Given the description of an element on the screen output the (x, y) to click on. 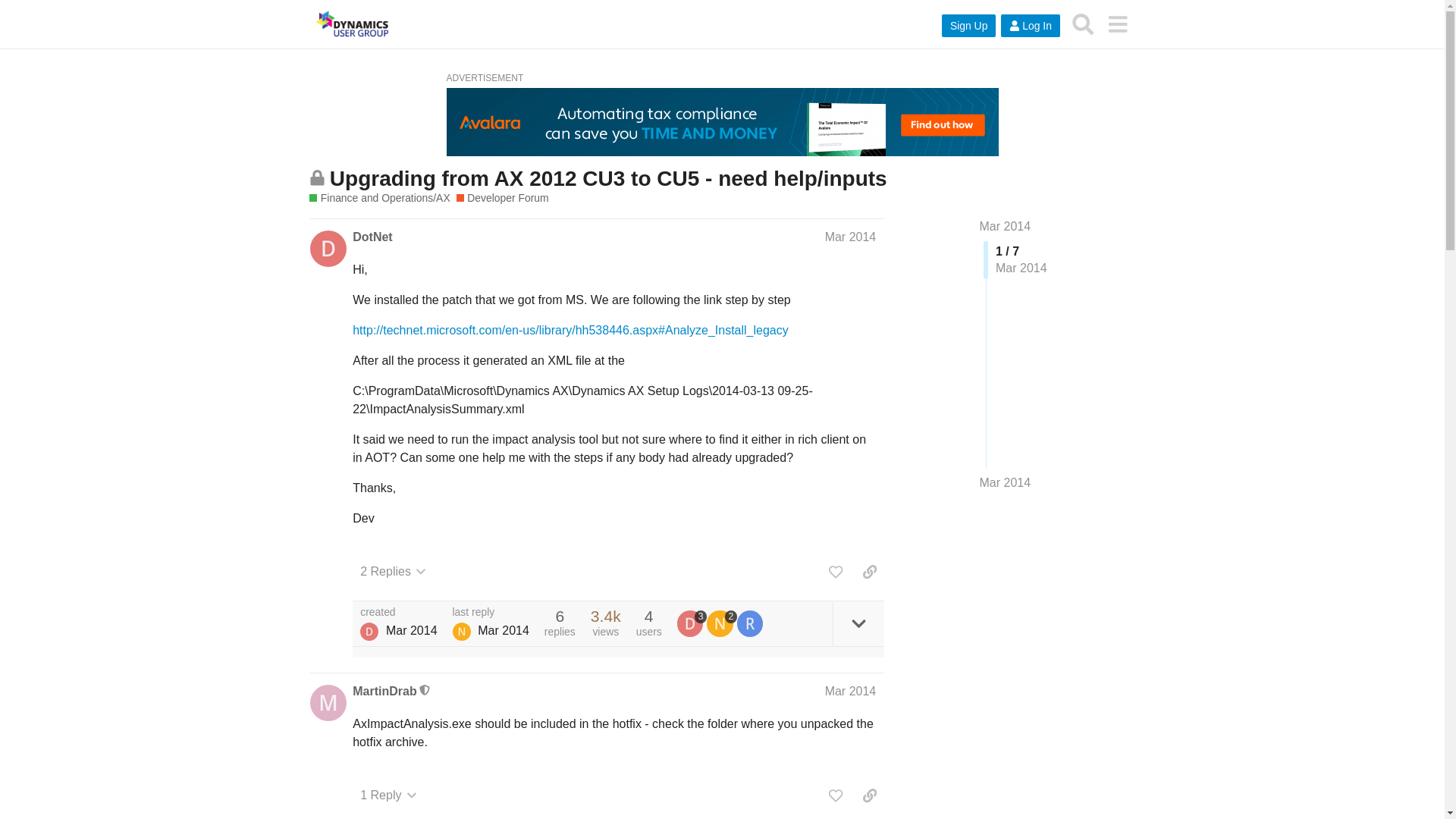
last reply (490, 612)
Jump to the first post (1004, 226)
Mar 2014 (1004, 483)
This topic is closed; it no longer accepts new replies (316, 177)
Log In (1030, 25)
Mar 2014 (1004, 226)
Please sign up or log in to like this post (835, 571)
2 Replies (392, 571)
expand topic details (857, 623)
Mar 2014 (850, 236)
copy a link to this post to clipboard (869, 571)
Search (1082, 23)
DotNet (368, 631)
2 (721, 623)
Mar 2014 (850, 690)
